Given the description of an element on the screen output the (x, y) to click on. 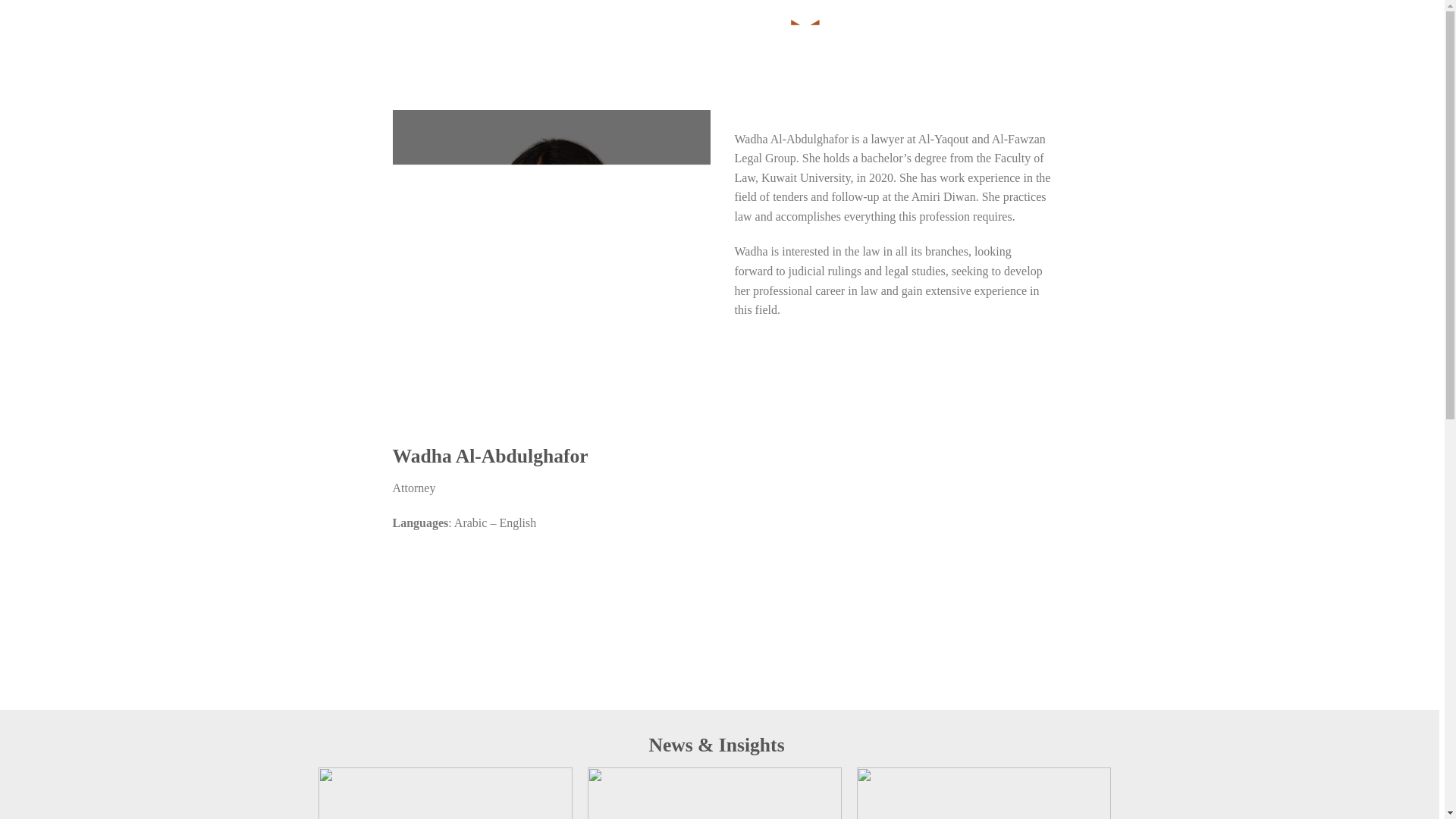
PPP AGREEMENT BETWEEN MANABEE K.S.P.C AND PAHW (714, 793)
KUWAIT BUSINESS LAW FORUM- 6TH EDITION (983, 793)
LEGAL AND ECONOMIC FORUM 2023 (445, 793)
WOMEN IN LAW IN THE ARAB WORLD BOOK LAUNCH (1252, 793)
MENU (351, 35)
Login (1090, 35)
